Given the description of an element on the screen output the (x, y) to click on. 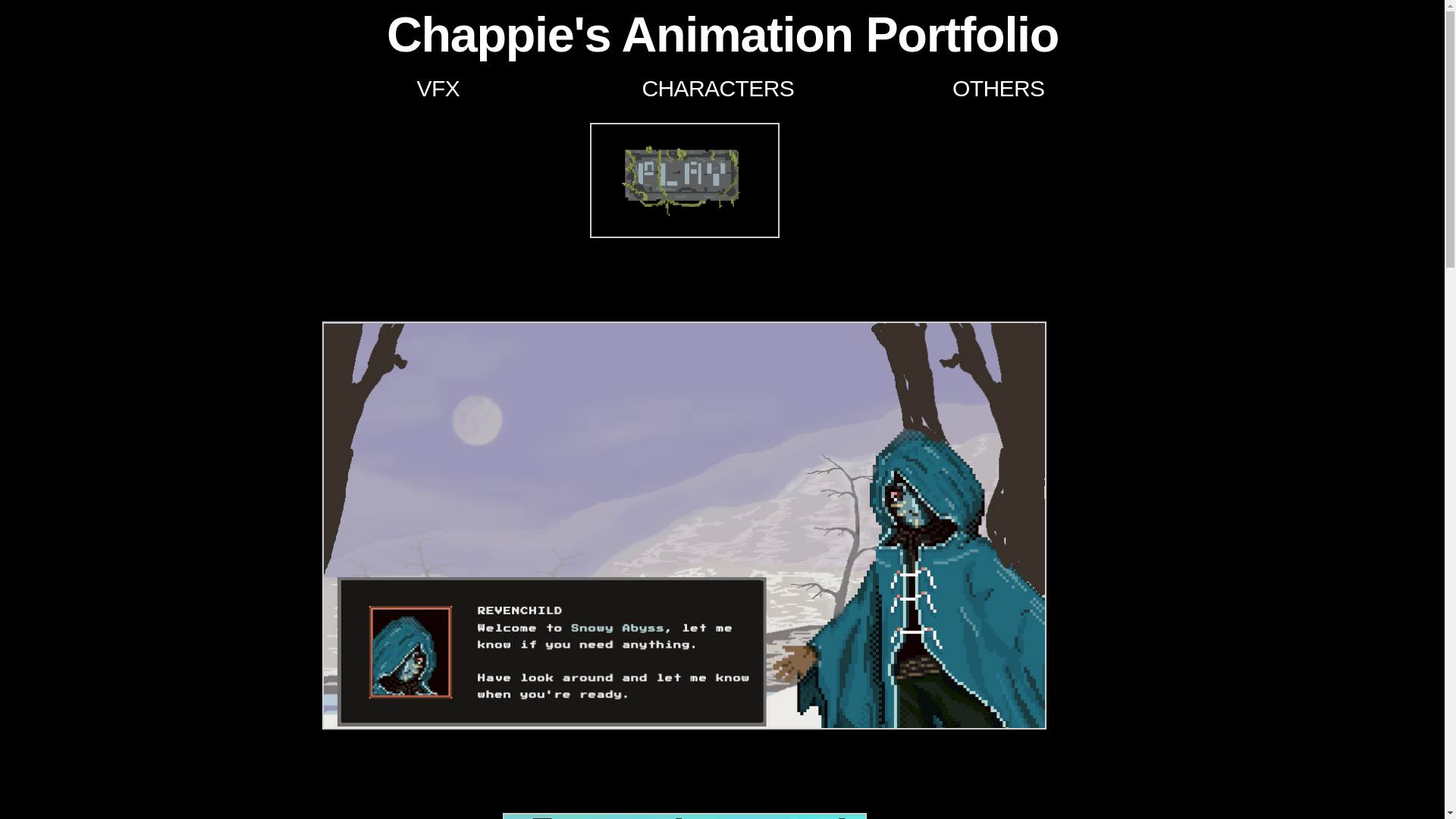
OTHERS (997, 88)
VFX (438, 88)
CHARACTERS (718, 88)
